Given the description of an element on the screen output the (x, y) to click on. 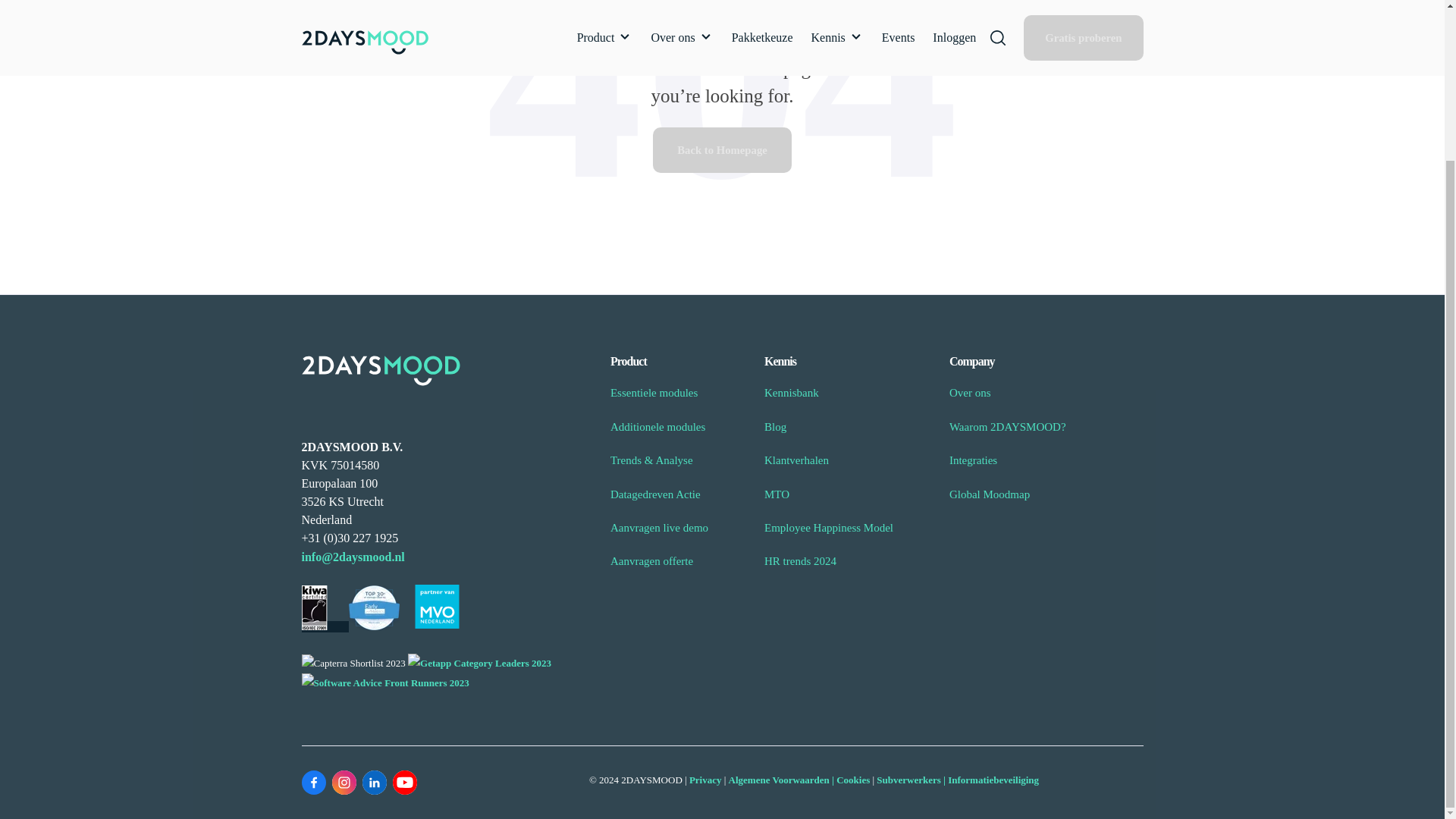
Aanvragen live demo (658, 527)
2Days Mood (380, 370)
Essentiele modules (653, 392)
Back to Homepage (722, 149)
Datagedreven Actie (655, 494)
Back to Homepage (722, 149)
Additionele modules (657, 426)
